Given the description of an element on the screen output the (x, y) to click on. 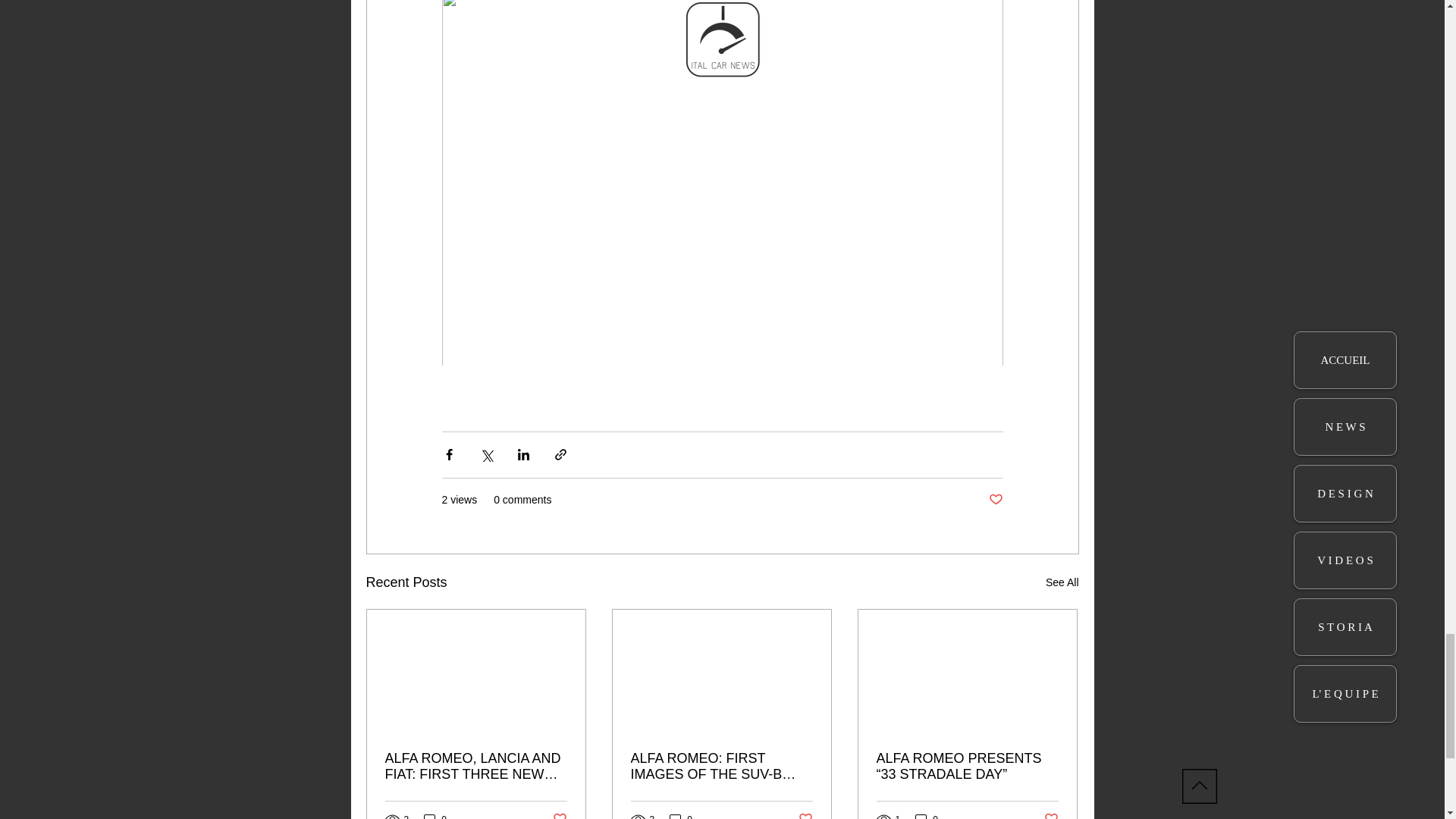
Post not marked as liked (1050, 815)
0 (681, 815)
ALFA ROMEO: FIRST IMAGES OF THE SUV-B FOR SEPTEMBER? (721, 766)
Post not marked as liked (804, 815)
0 (435, 815)
See All (1061, 582)
Post not marked as liked (995, 499)
0 (926, 815)
Post not marked as liked (558, 815)
